Given the description of an element on the screen output the (x, y) to click on. 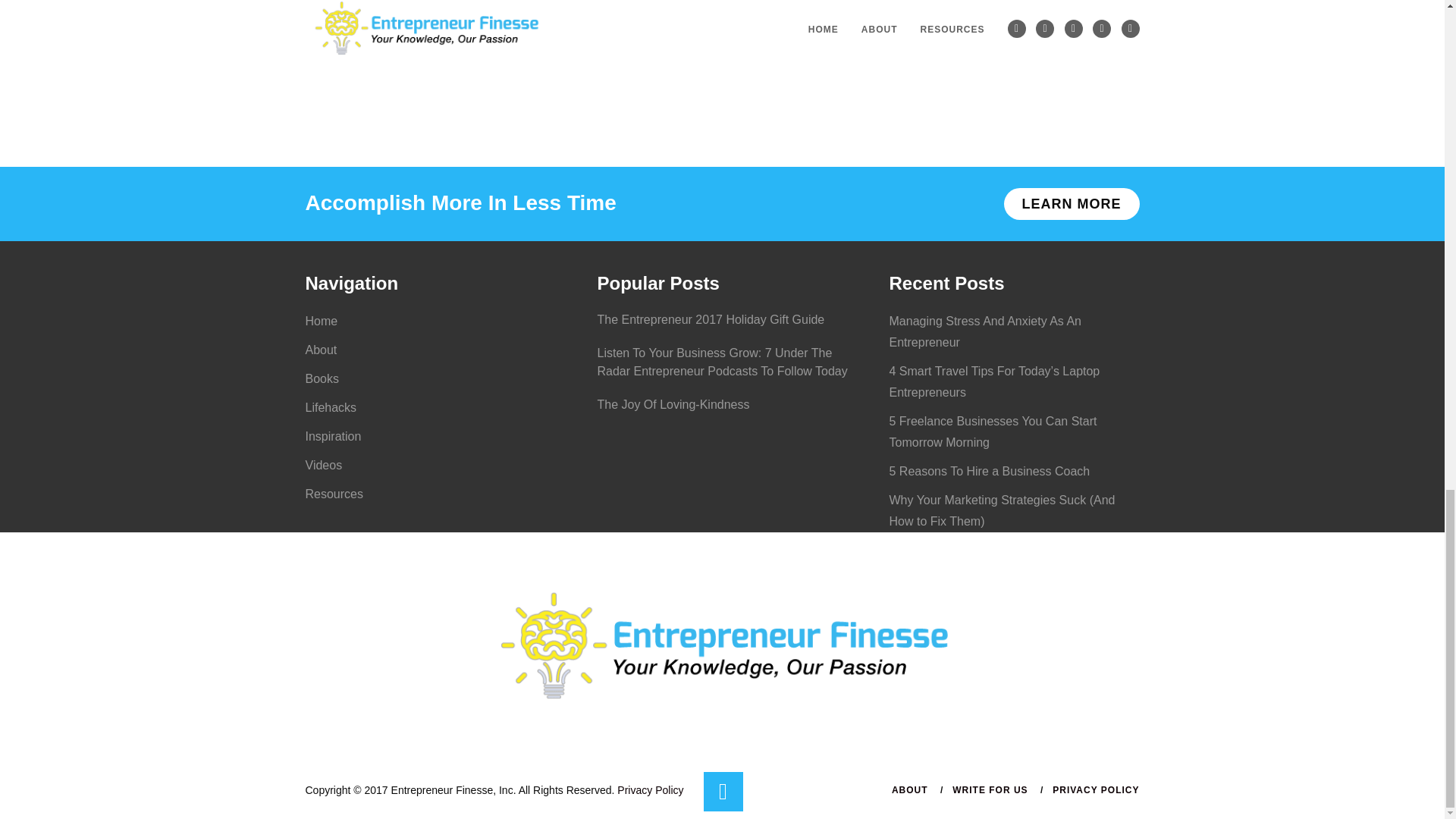
Lifehacks (330, 407)
Home (320, 320)
LEARN MORE (1072, 204)
Books (320, 378)
About (320, 349)
